Given the description of an element on the screen output the (x, y) to click on. 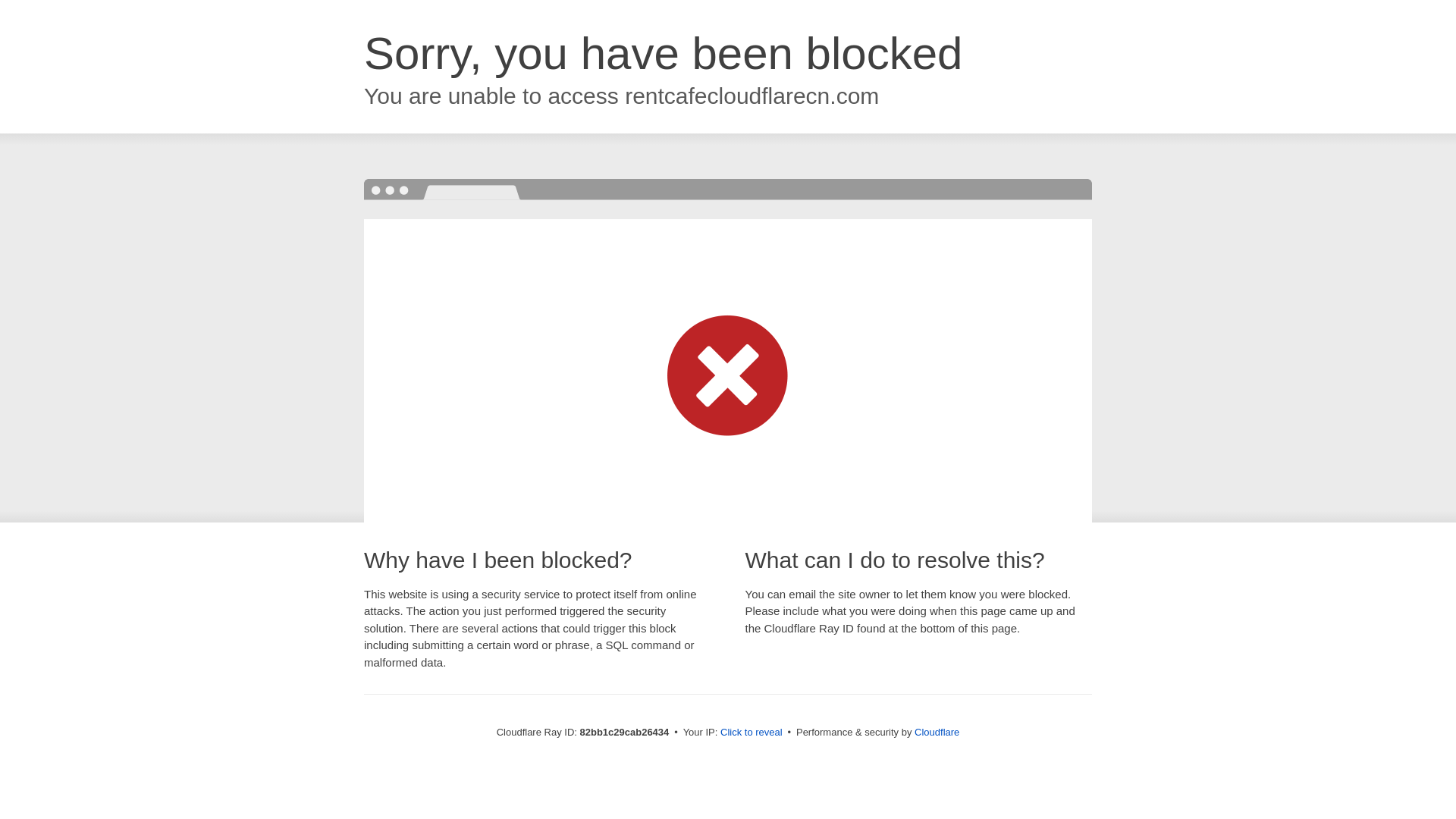
Click to reveal Element type: text (751, 732)
Cloudflare Element type: text (936, 731)
